Given the description of an element on the screen output the (x, y) to click on. 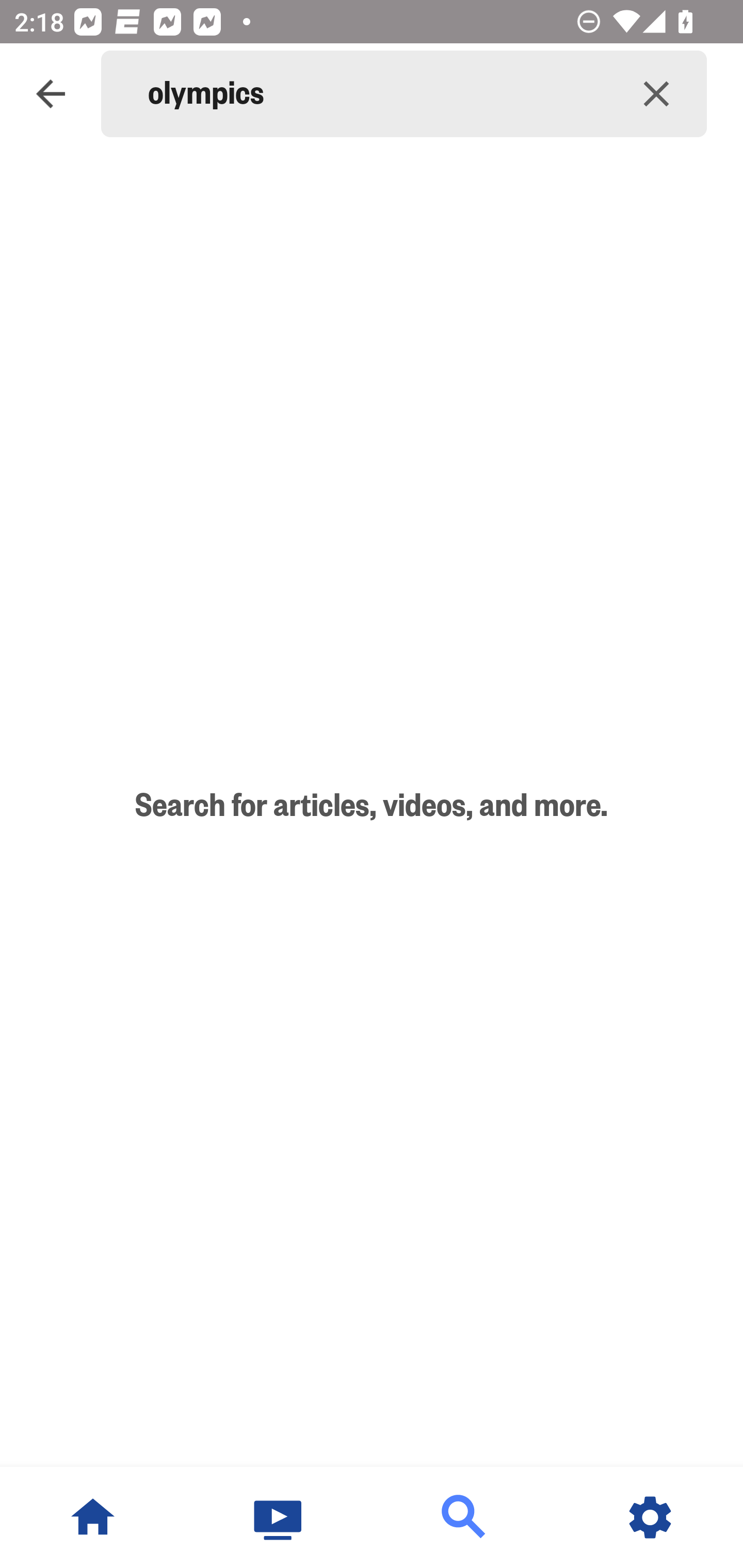
Navigate up (50, 93)
Clear query (656, 93)
olympics (376, 94)
NBC News Home (92, 1517)
Watch (278, 1517)
Settings (650, 1517)
